Given the description of an element on the screen output the (x, y) to click on. 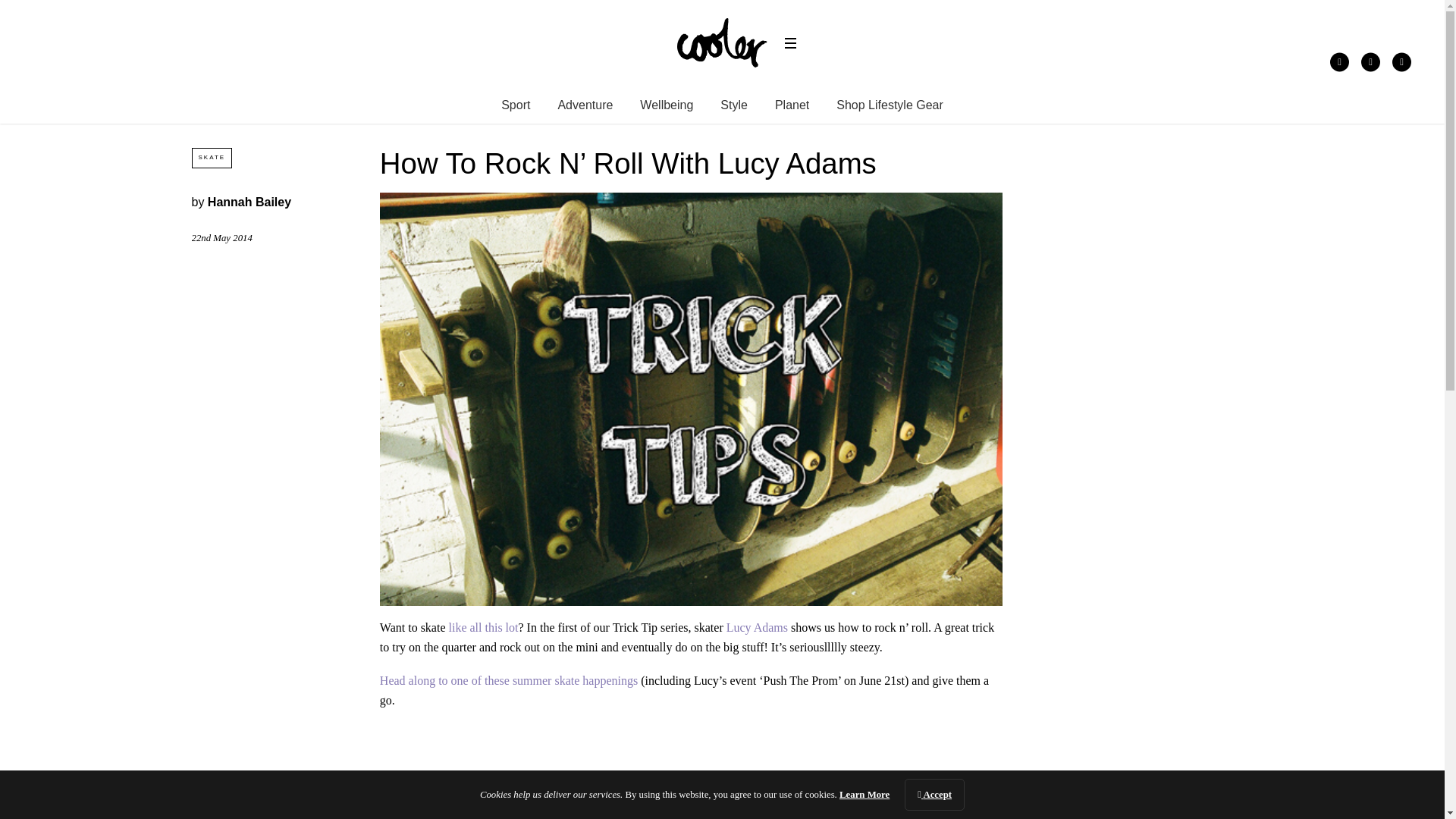
Find us on Facebook (1339, 61)
Wellbeing (666, 104)
Menu (790, 42)
Follow us on Twitter (1370, 61)
Style (734, 104)
Adventure (584, 104)
Sport (514, 104)
Shop Lifestyle Gear (889, 104)
Planet (791, 104)
Find us on Instagram (1400, 61)
